Given the description of an element on the screen output the (x, y) to click on. 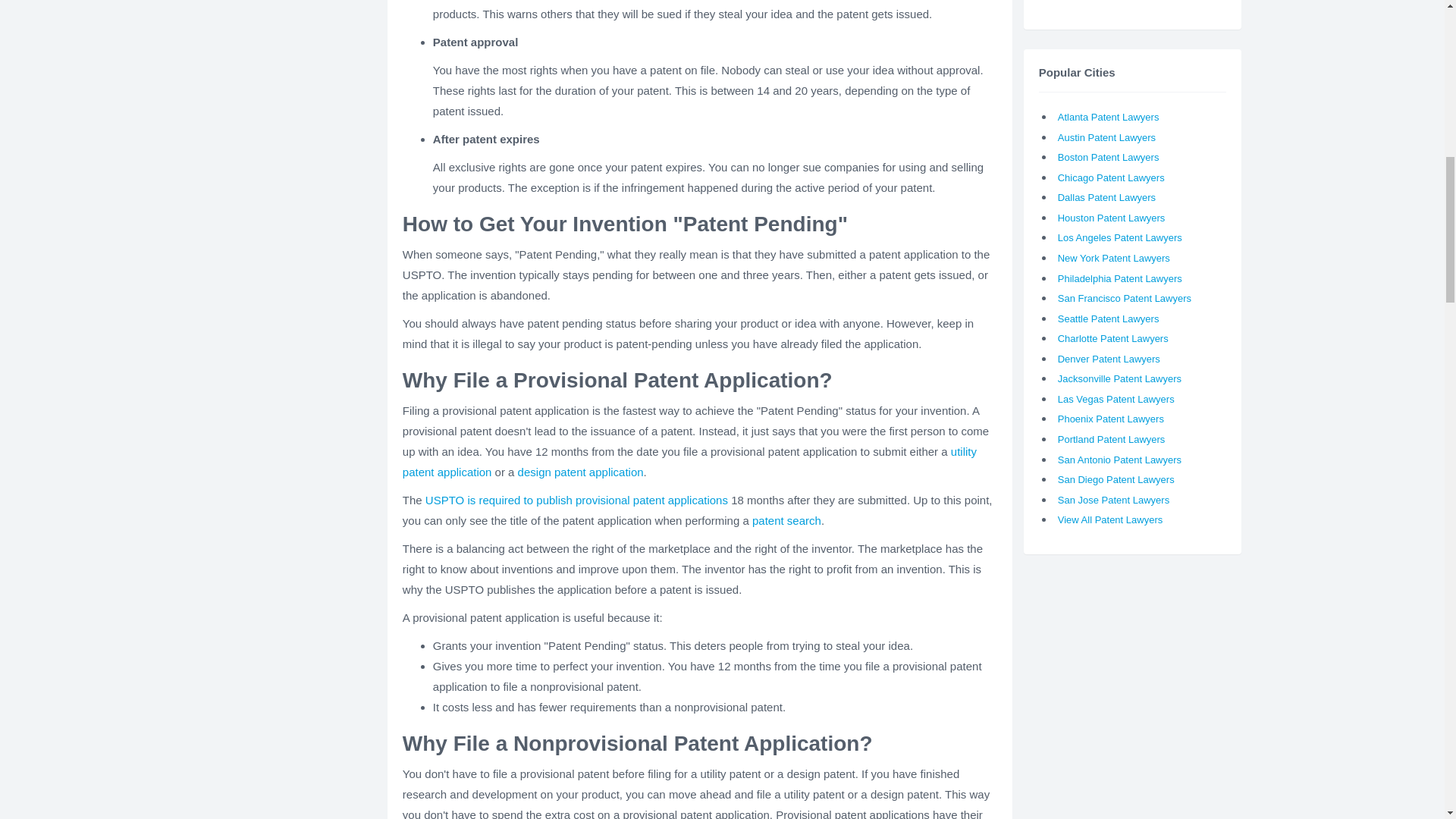
design patent application (580, 472)
USPTO is required to publish provisional patent applications (576, 499)
utility patent application (689, 461)
